Given the description of an element on the screen output the (x, y) to click on. 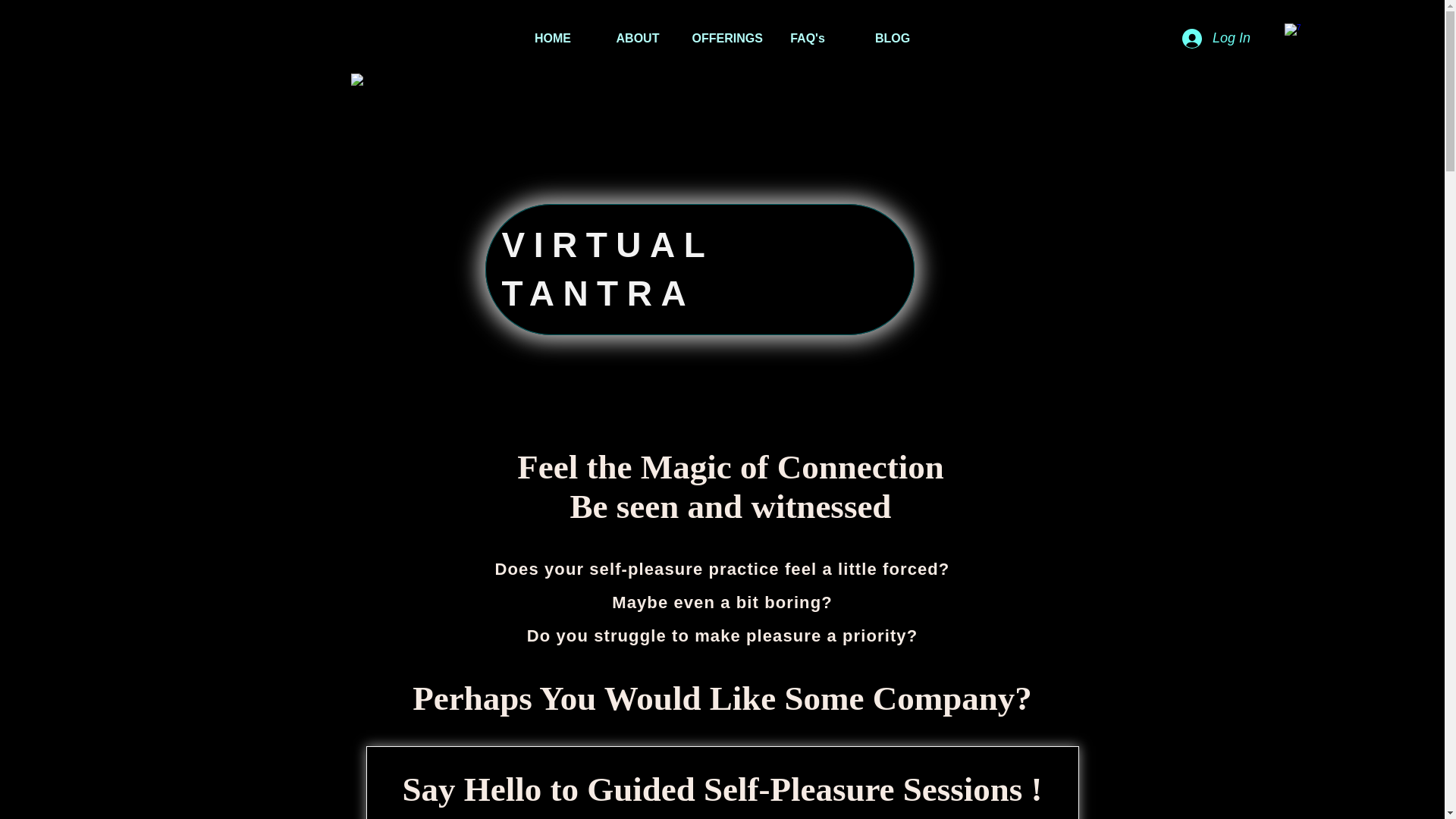
Log In (1216, 38)
BLOG (891, 38)
ABOUT (636, 38)
FAQ's (806, 38)
HOME (551, 38)
